Given the description of an element on the screen output the (x, y) to click on. 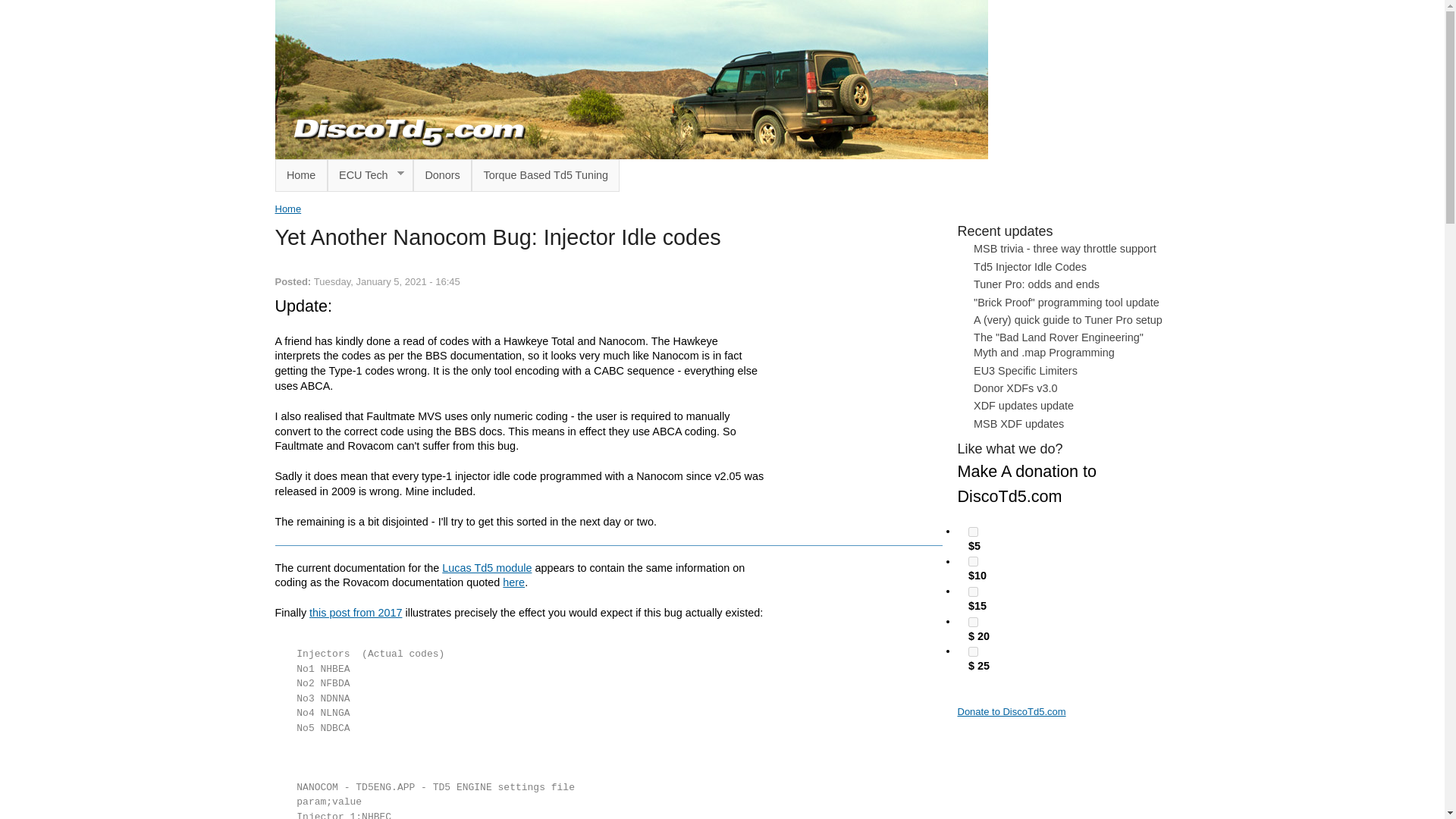
Tuner Pro: odds and ends (1036, 284)
Td5 Injector Idle Codes (1030, 266)
Donors (442, 174)
EU3 Specific Limiters (1025, 370)
Lucas Td5 module (486, 567)
"Brick Proof" programming tool update (1066, 302)
XDF updates update (1024, 405)
MSB trivia - three way throttle support (1065, 248)
this post from 2017 (354, 612)
5 (973, 532)
